Given the description of an element on the screen output the (x, y) to click on. 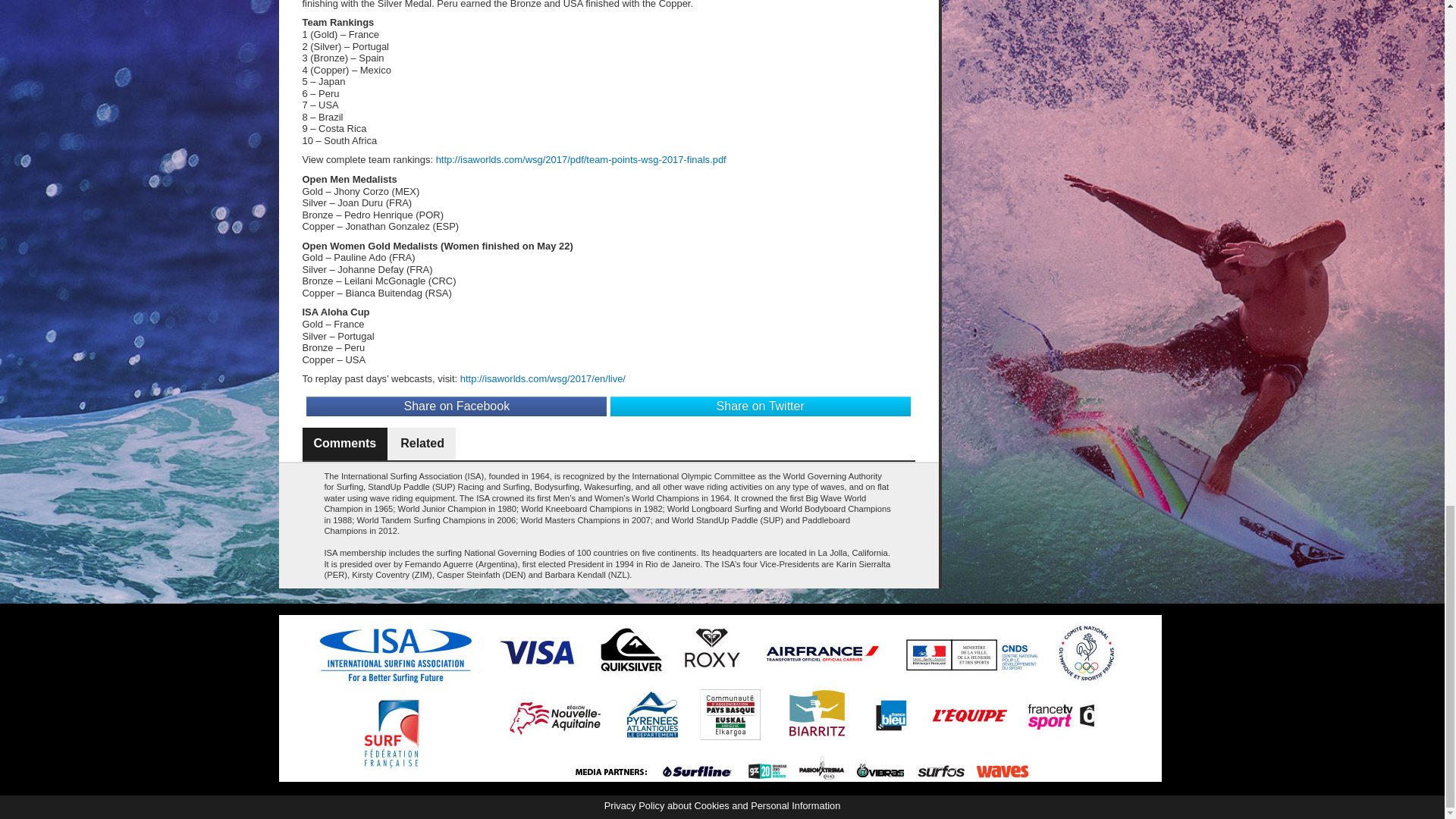
Click to share this post on Twitter (760, 406)
